Given the description of an element on the screen output the (x, y) to click on. 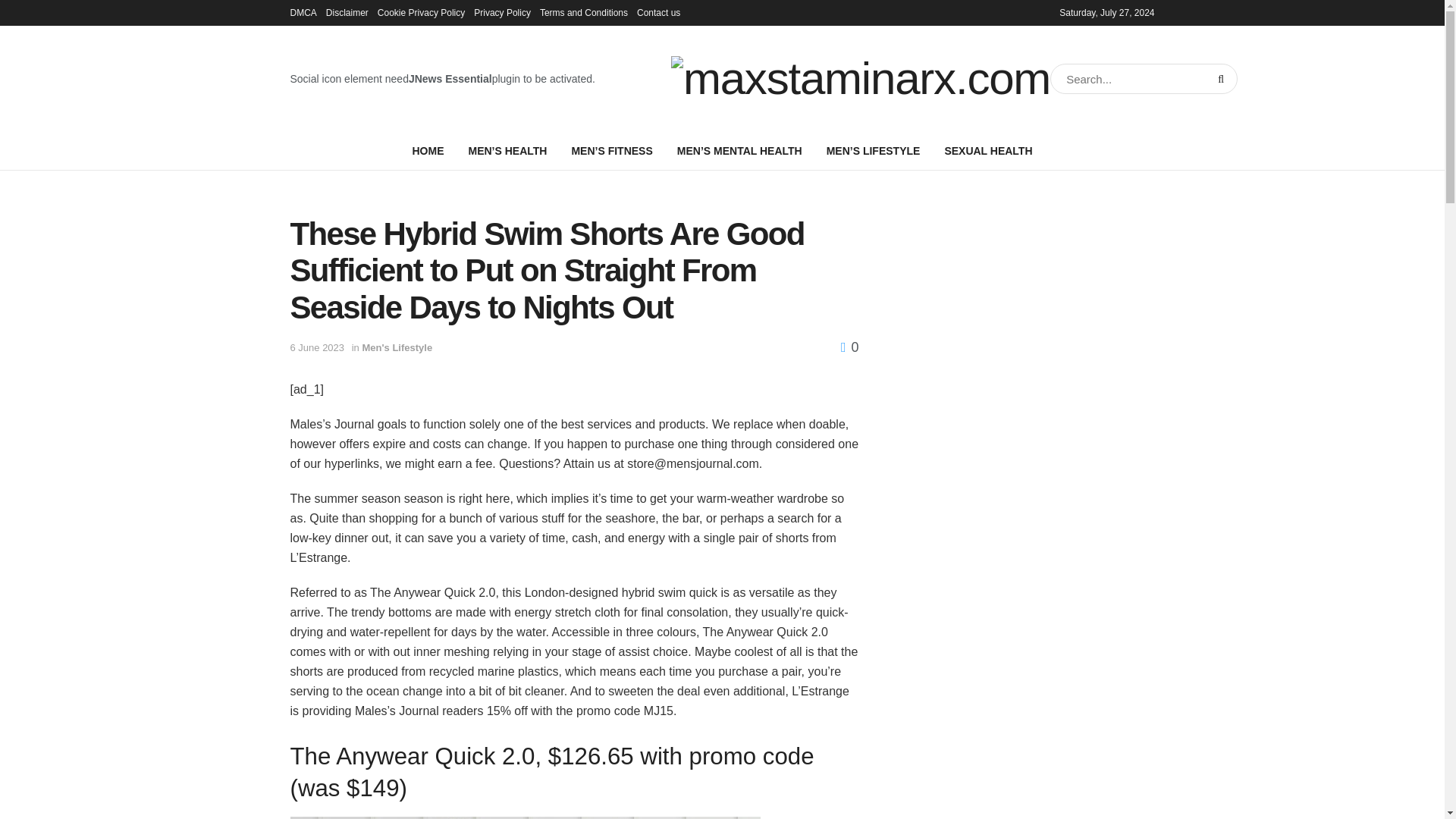
Men's Lifestyle (396, 347)
Privacy Policy (502, 12)
Cookie Privacy Policy (420, 12)
Disclaimer (347, 12)
Terms and Conditions (583, 12)
SEXUAL HEALTH (987, 150)
HOME (426, 150)
DMCA (302, 12)
Contact us (658, 12)
6 June 2023 (316, 347)
0 (850, 346)
